Given the description of an element on the screen output the (x, y) to click on. 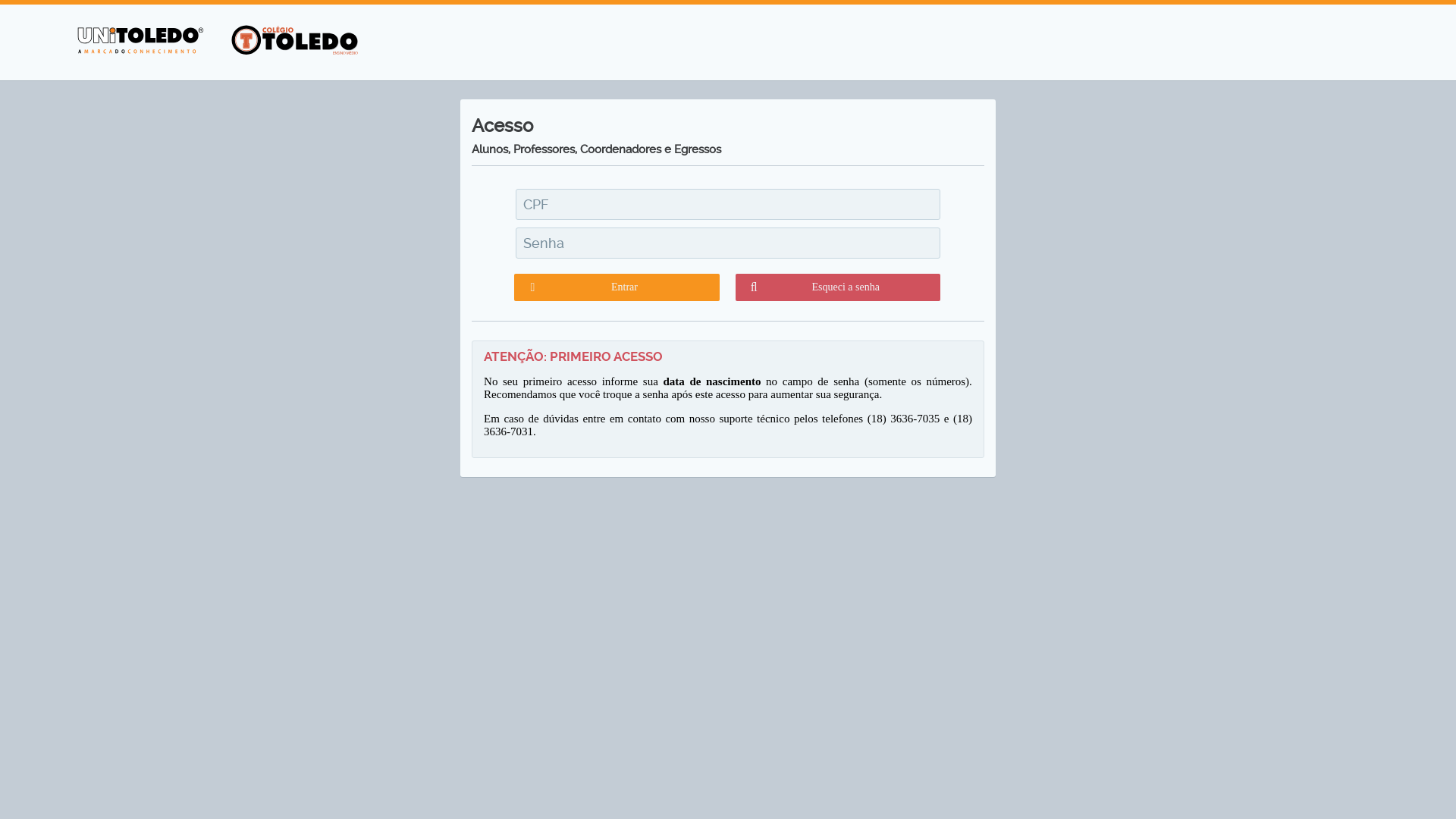
Entrar Element type: text (616, 287)
Esqueci a senha Element type: text (837, 287)
